Given the description of an element on the screen output the (x, y) to click on. 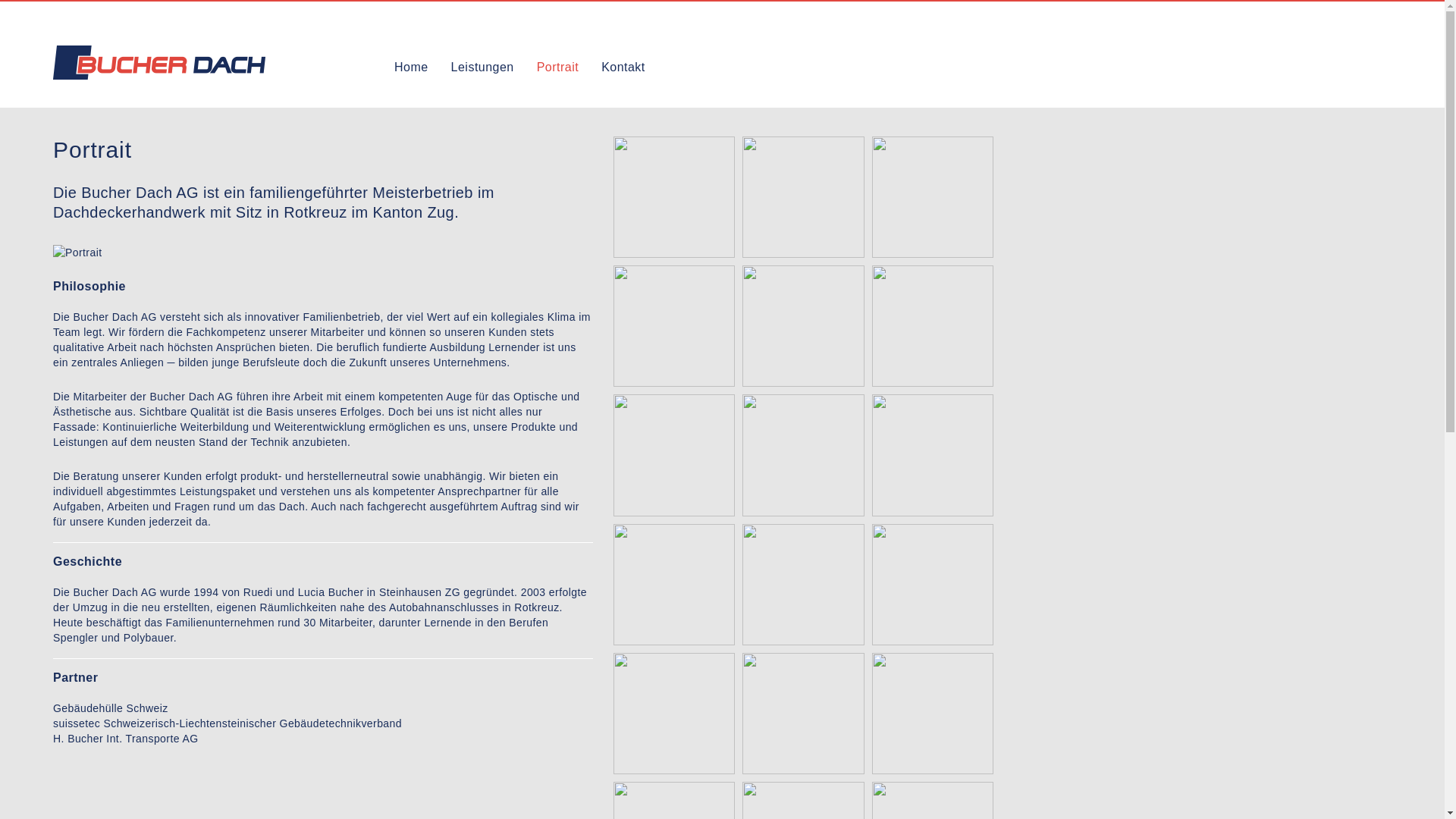
H. Bucher Int. Transporte AG Element type: text (125, 738)
Home Element type: text (411, 70)
Leistungen Element type: text (482, 70)
Kontakt Element type: text (623, 70)
Portrait Element type: text (557, 70)
